Given the description of an element on the screen output the (x, y) to click on. 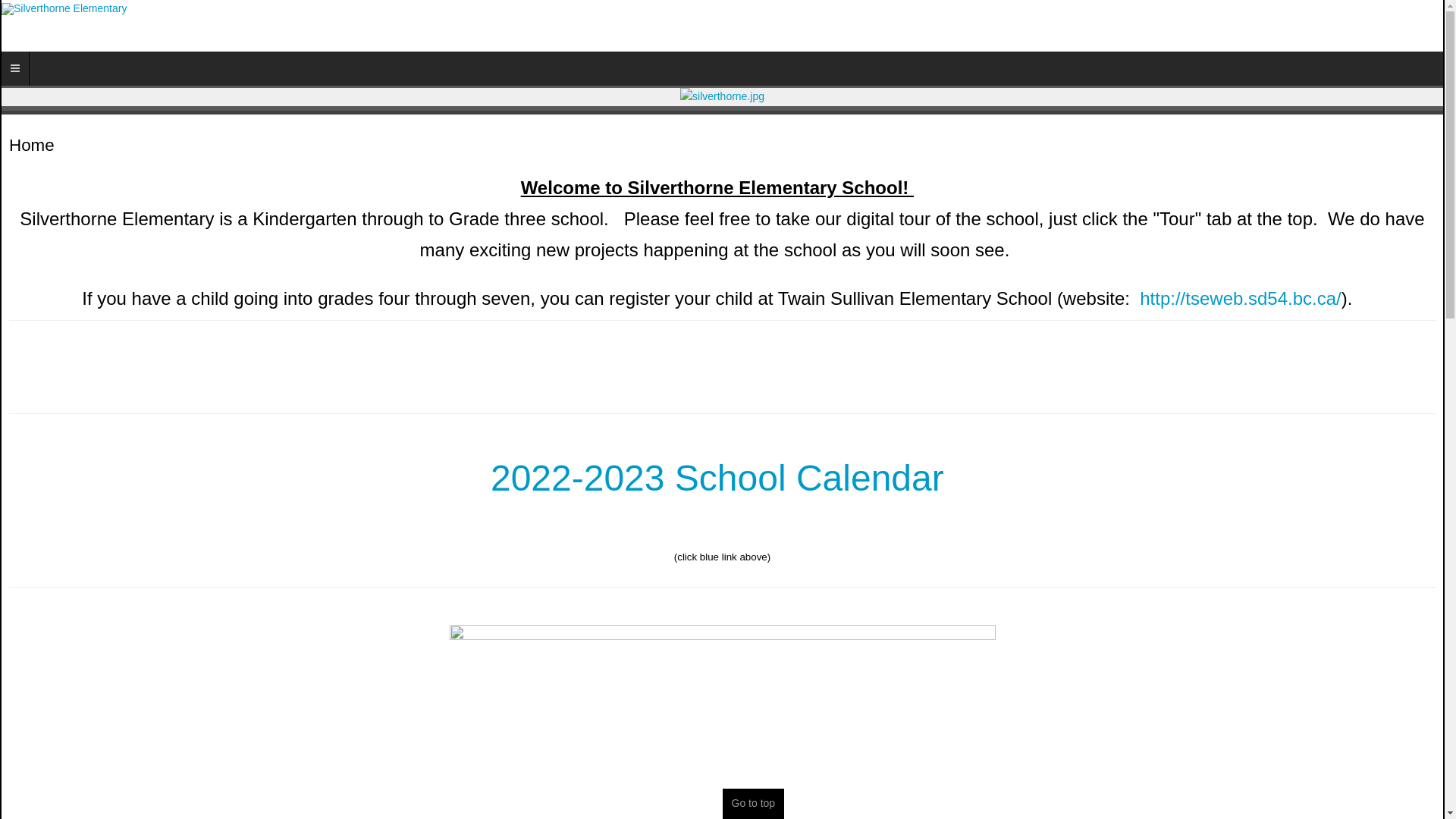
Silverthorne Elementary Element type: hover (63, 9)
silverthorne.jpg Element type: hover (722, 96)
2022-2023 School Calendar Element type: text (717, 478)
http://tseweb.sd54.bc.ca/ Element type: text (1240, 298)
